Given the description of an element on the screen output the (x, y) to click on. 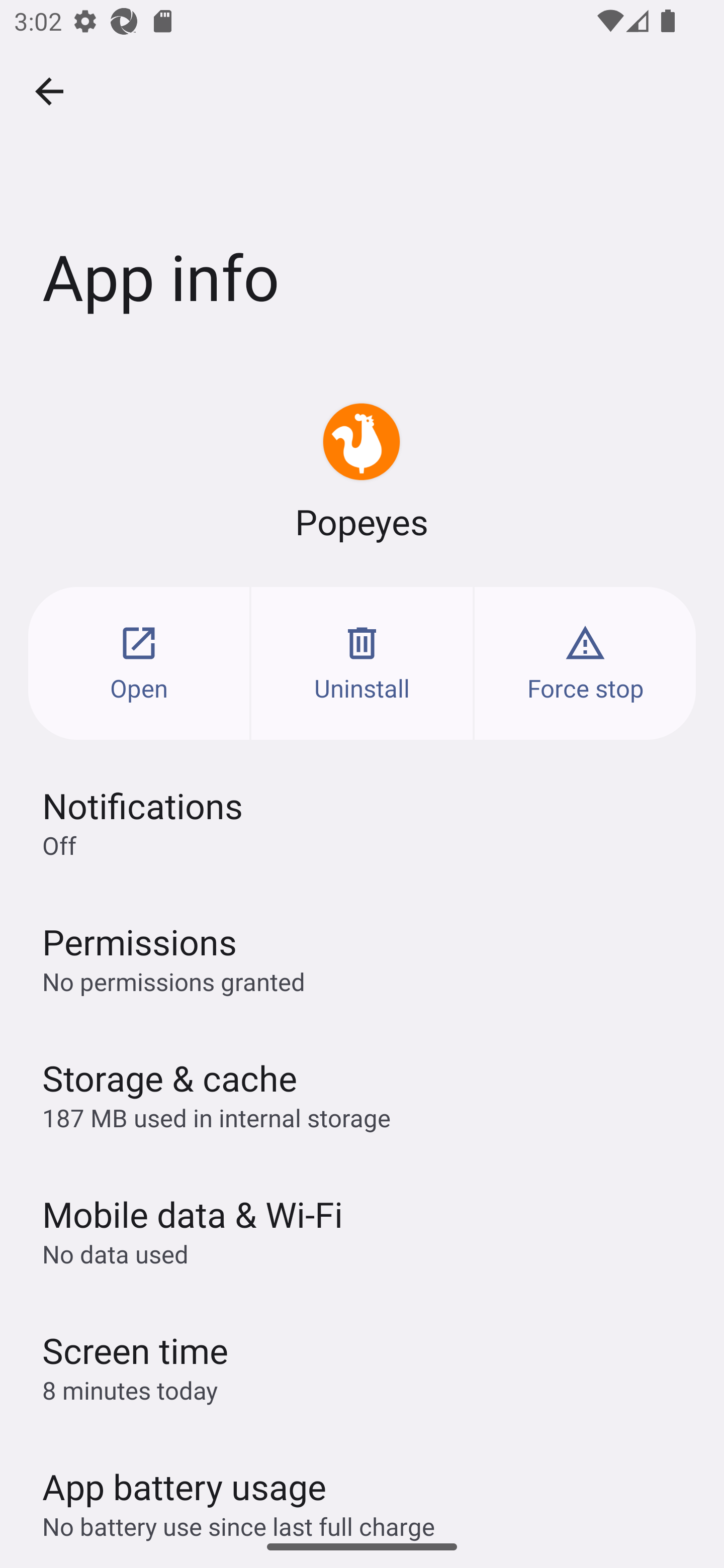
Navigate up (49, 91)
Open (138, 663)
Uninstall (361, 663)
Force stop (584, 663)
Notifications Off (362, 822)
Permissions No permissions granted (362, 957)
Storage & cache 187 MB used in internal storage (362, 1093)
Mobile data & Wi‑Fi No data used (362, 1229)
Screen time 8 minutes today (362, 1366)
